Given the description of an element on the screen output the (x, y) to click on. 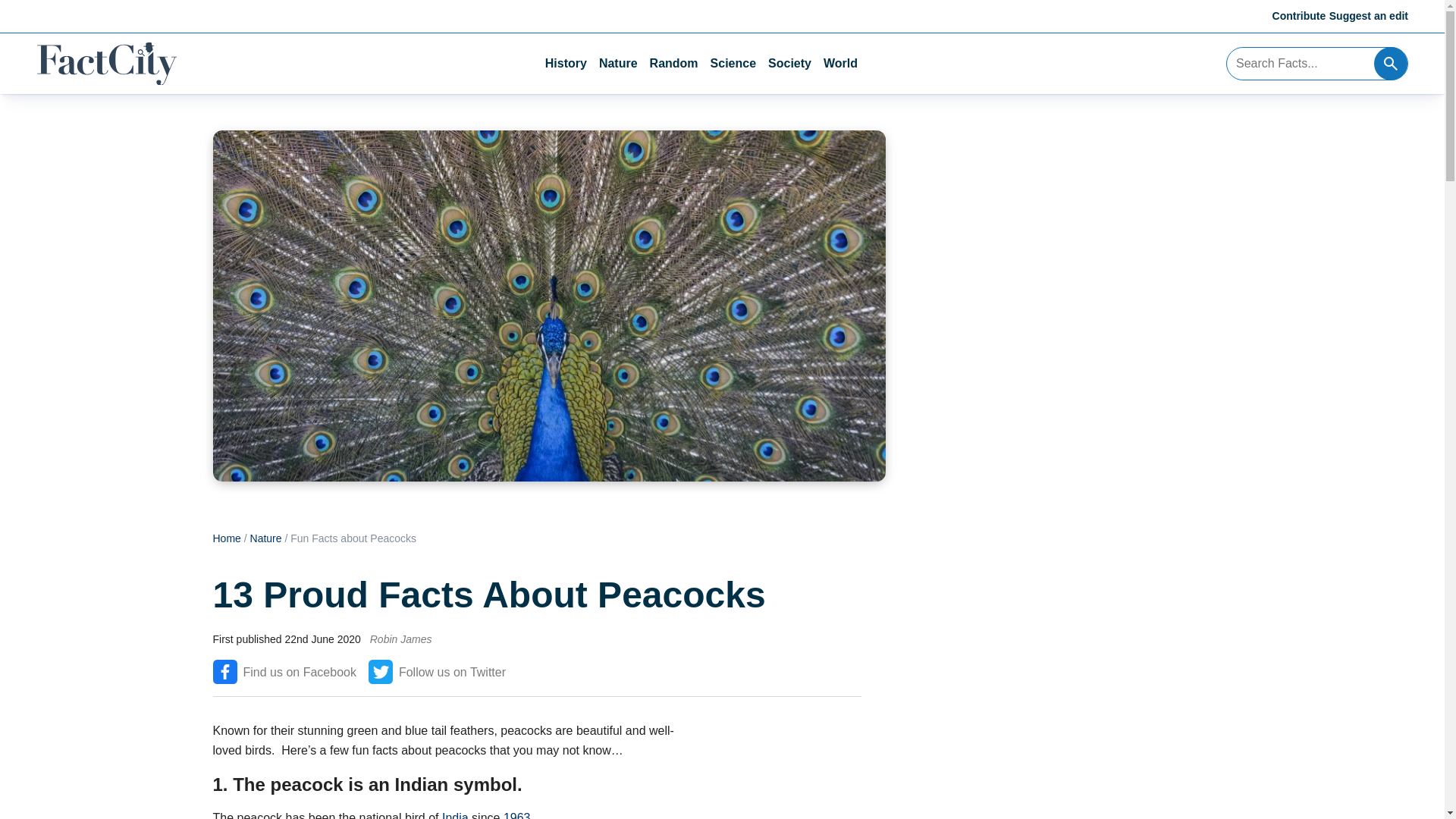
Nature (266, 538)
Contribute (1299, 15)
World (840, 63)
Fact City (106, 63)
Science (732, 63)
Search (1390, 63)
Search (1390, 63)
Suggest an edit (1368, 15)
Random (673, 63)
Search (1390, 63)
